Given the description of an element on the screen output the (x, y) to click on. 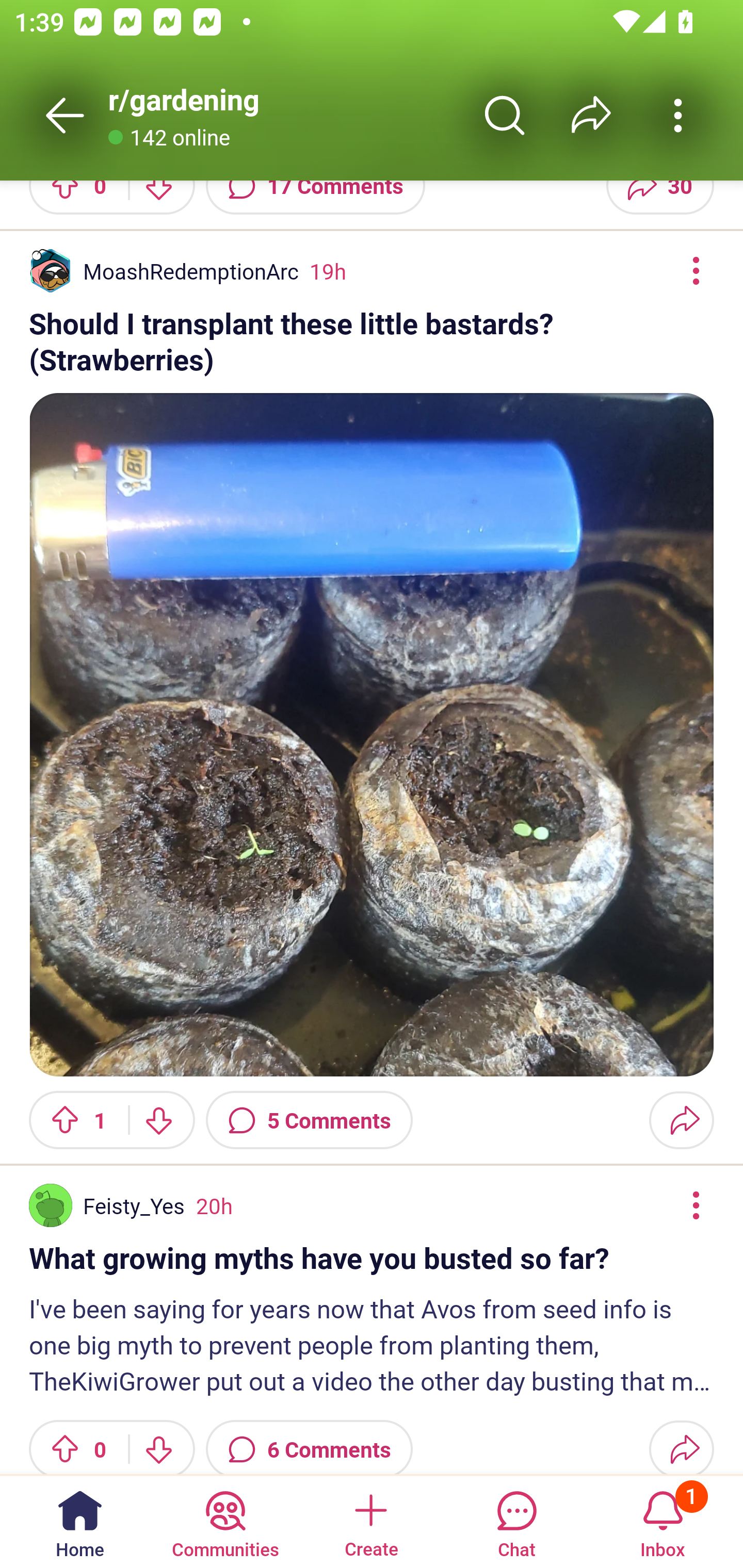
Back (64, 115)
Search r/﻿gardening (504, 115)
Share r/﻿gardening (591, 115)
More community actions (677, 115)
Home (80, 1520)
Communities (225, 1520)
Create a post Create (370, 1520)
Chat (516, 1520)
Inbox, has 1 notification 1 Inbox (662, 1520)
